Given the description of an element on the screen output the (x, y) to click on. 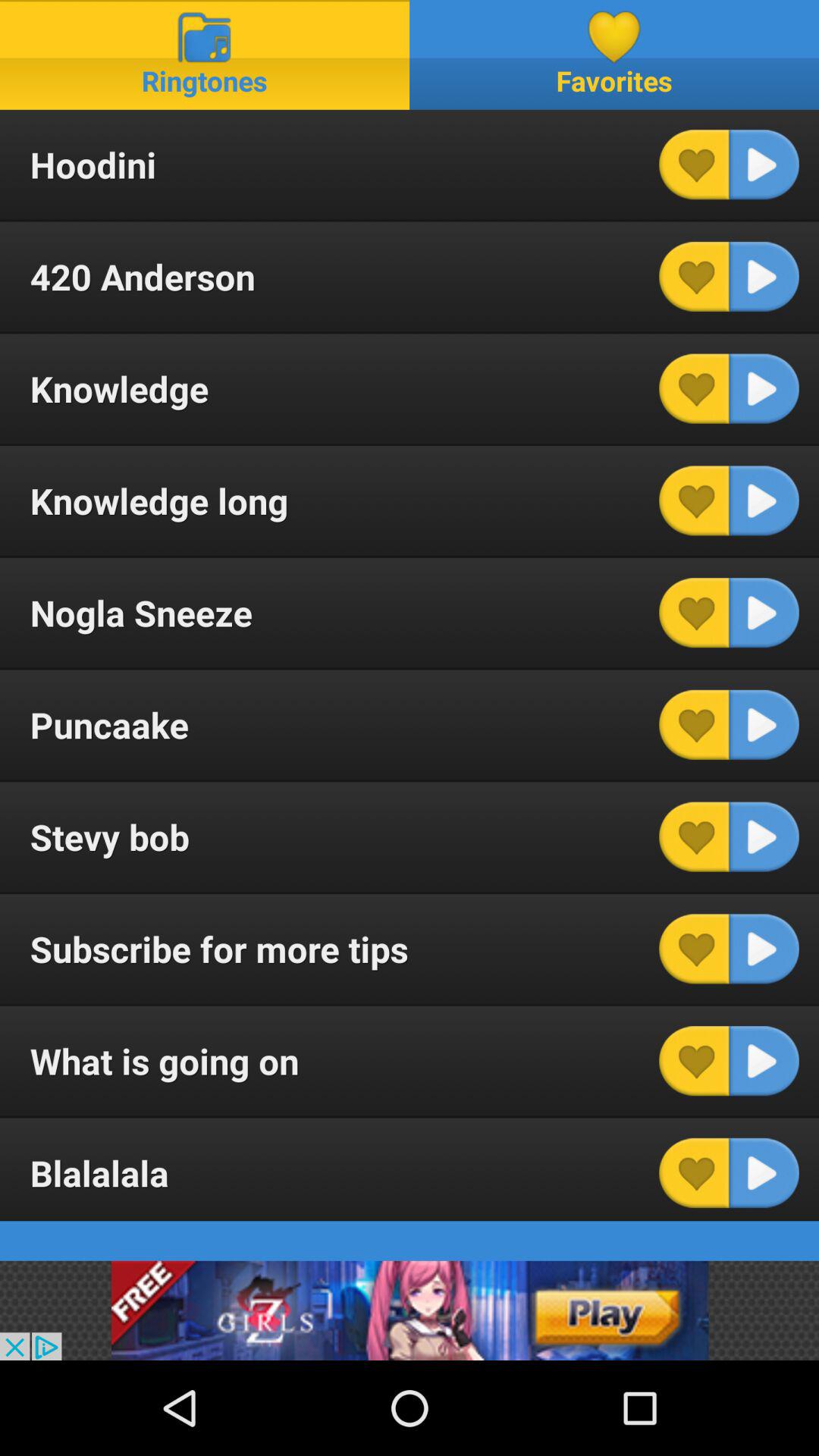
favorite knowledge long (694, 500)
